Given the description of an element on the screen output the (x, y) to click on. 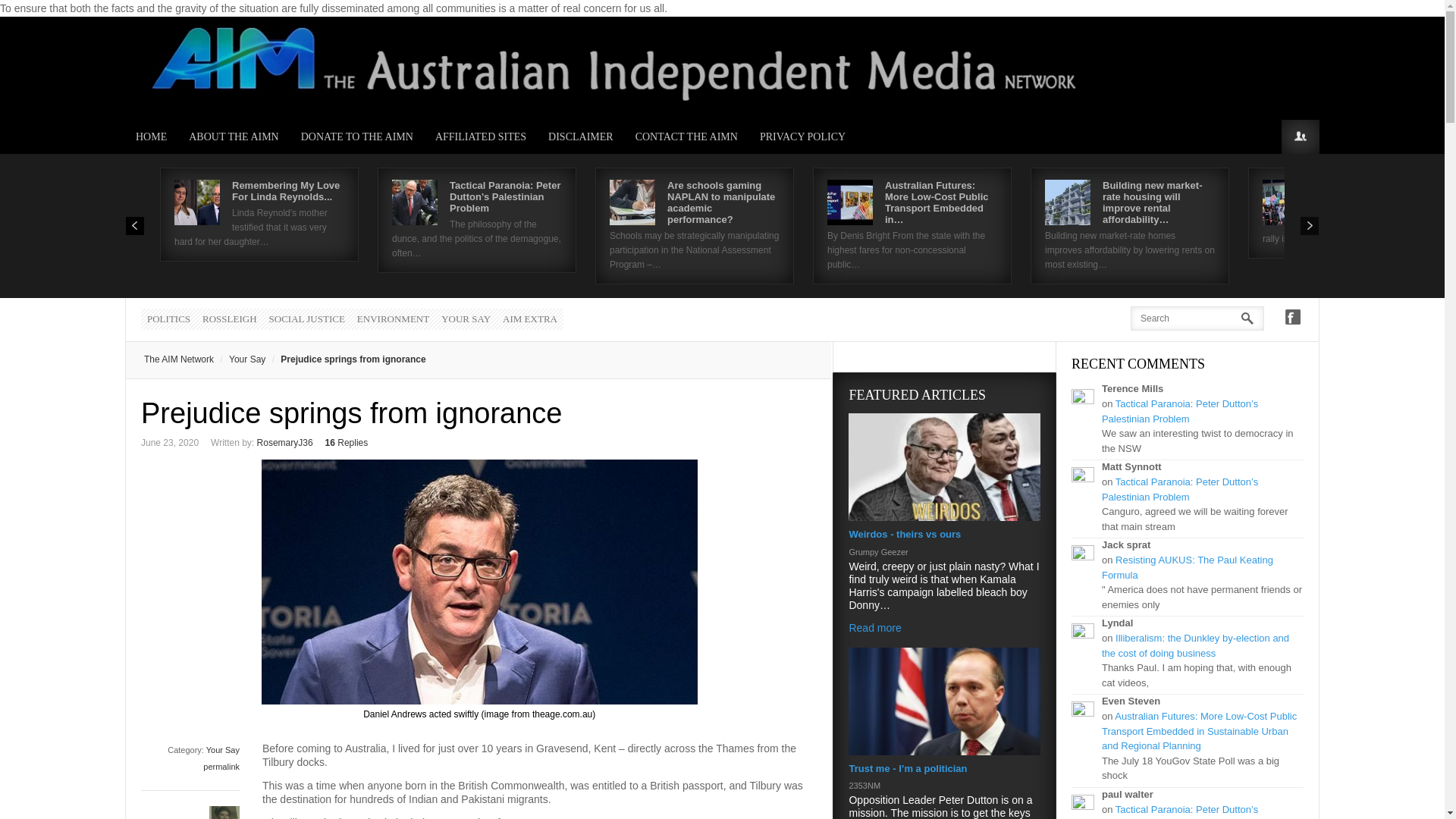
DISCLAIMER (580, 136)
Search (35, 15)
YOUR SAY (465, 319)
AFFILIATED SITES (481, 136)
POLITICS (168, 319)
Login (1300, 136)
Facebook (1292, 316)
RosemaryJ36 (285, 442)
